Given the description of an element on the screen output the (x, y) to click on. 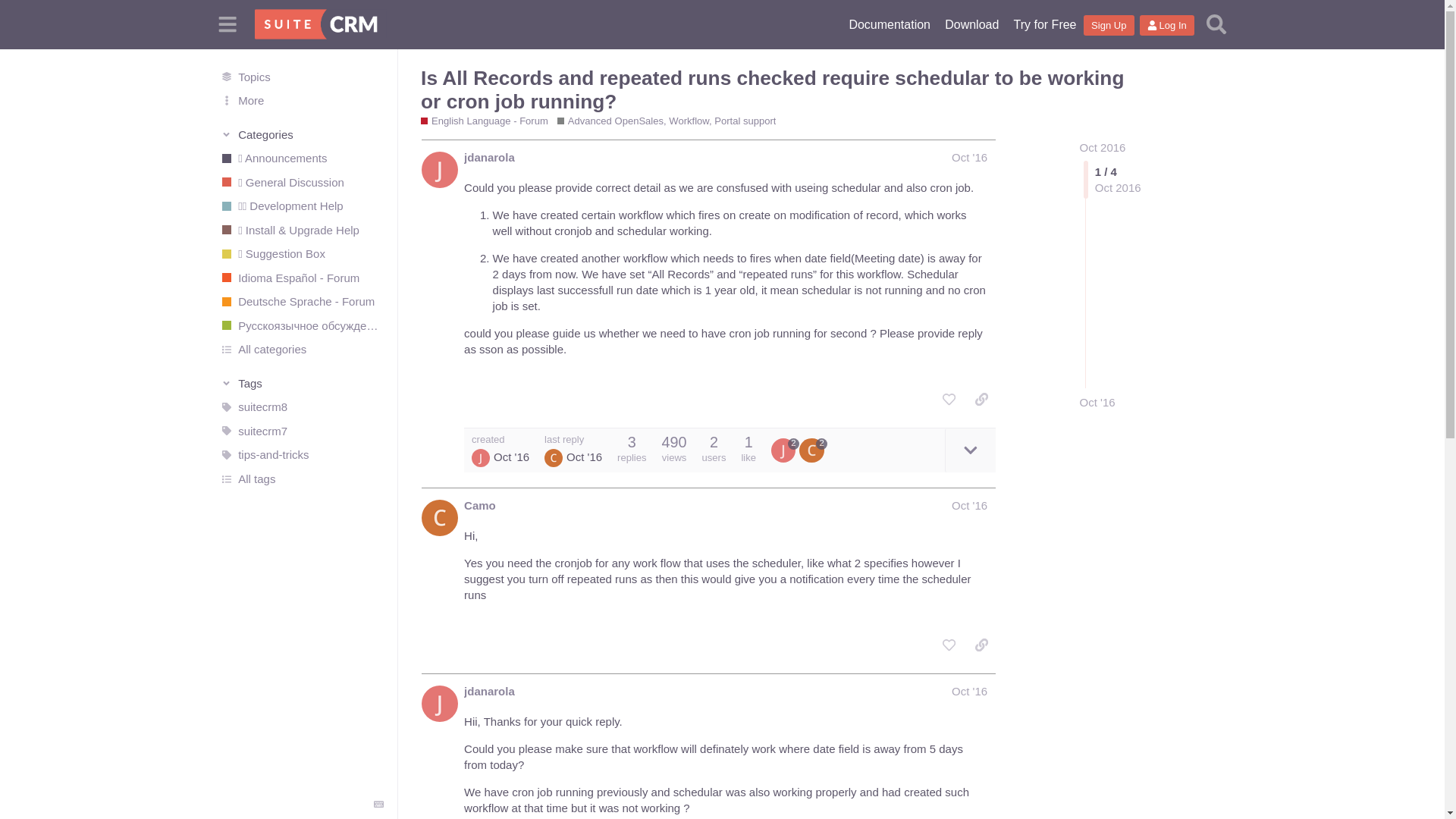
Tags (301, 382)
jdanarola (489, 157)
Hide sidebar (227, 24)
Oct '16 (969, 156)
English Language - Forum (484, 120)
Documentation (889, 24)
suitecrm8 (301, 406)
Search (1215, 24)
Try for Free (1044, 24)
Topics (301, 76)
Download (971, 24)
Try SuiteCRM Today (1044, 24)
